Given the description of an element on the screen output the (x, y) to click on. 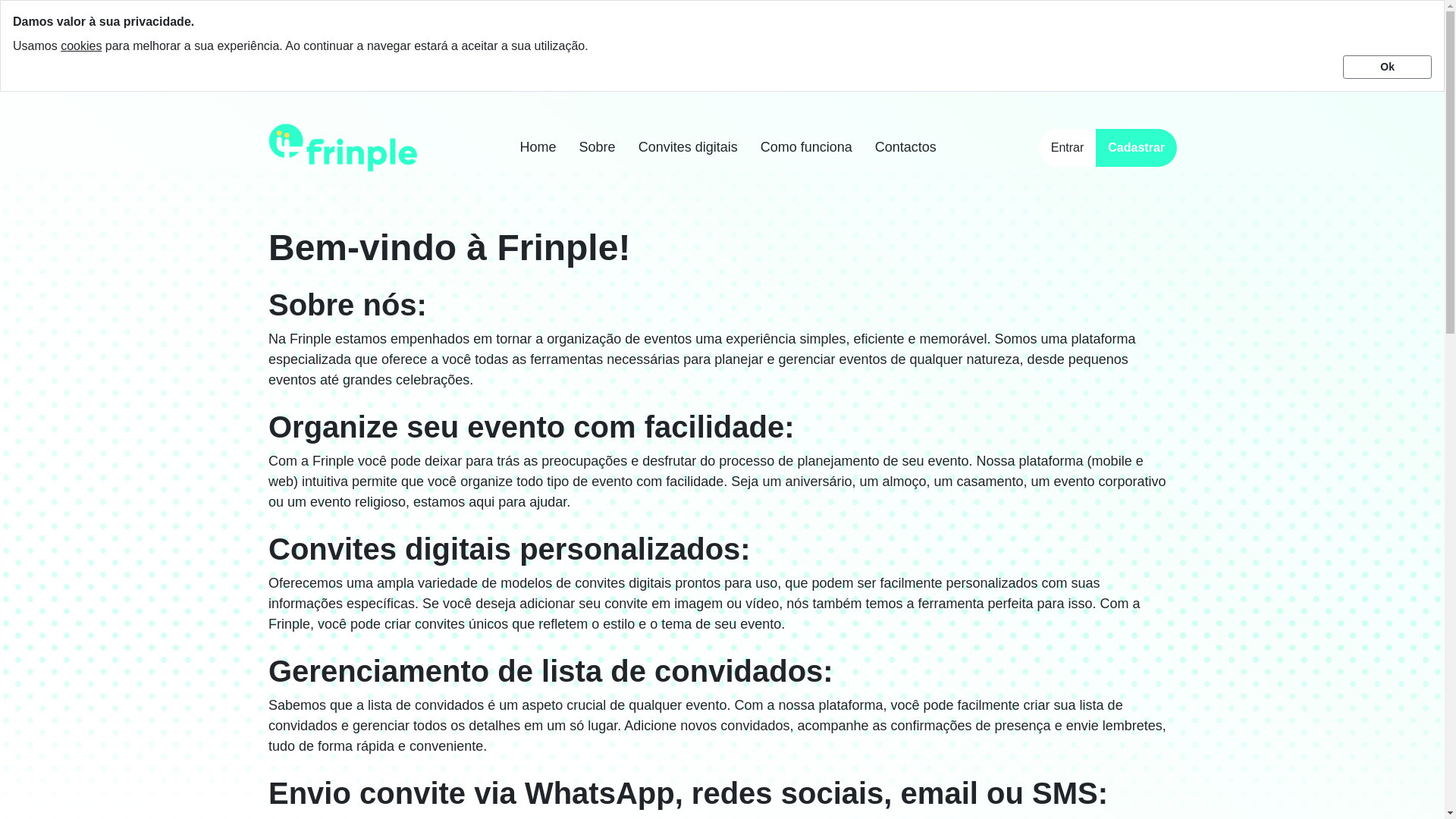
Convites digitais (688, 146)
Cadastrar (1136, 147)
Sobre (597, 146)
Home (537, 146)
Entrar (1067, 147)
cookies (81, 45)
Contactos (905, 146)
Ok (1386, 66)
Como funciona (805, 146)
